Given the description of an element on the screen output the (x, y) to click on. 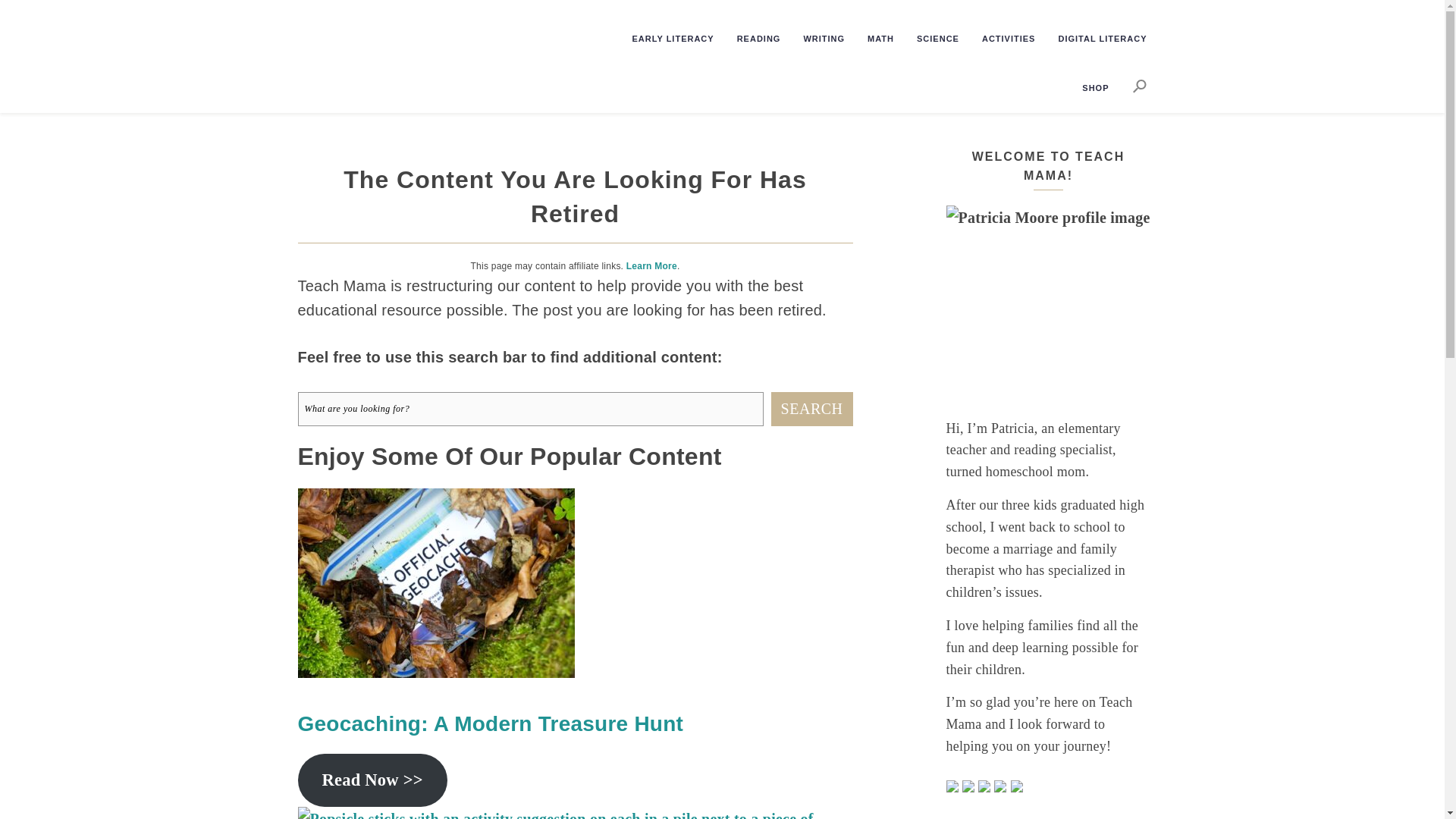
Welcome to Teach Mama! (1048, 307)
WRITING (814, 38)
EARLY LITERACY (663, 38)
TEACH MAMA (405, 34)
READING (748, 38)
MATH (870, 38)
